Given the description of an element on the screen output the (x, y) to click on. 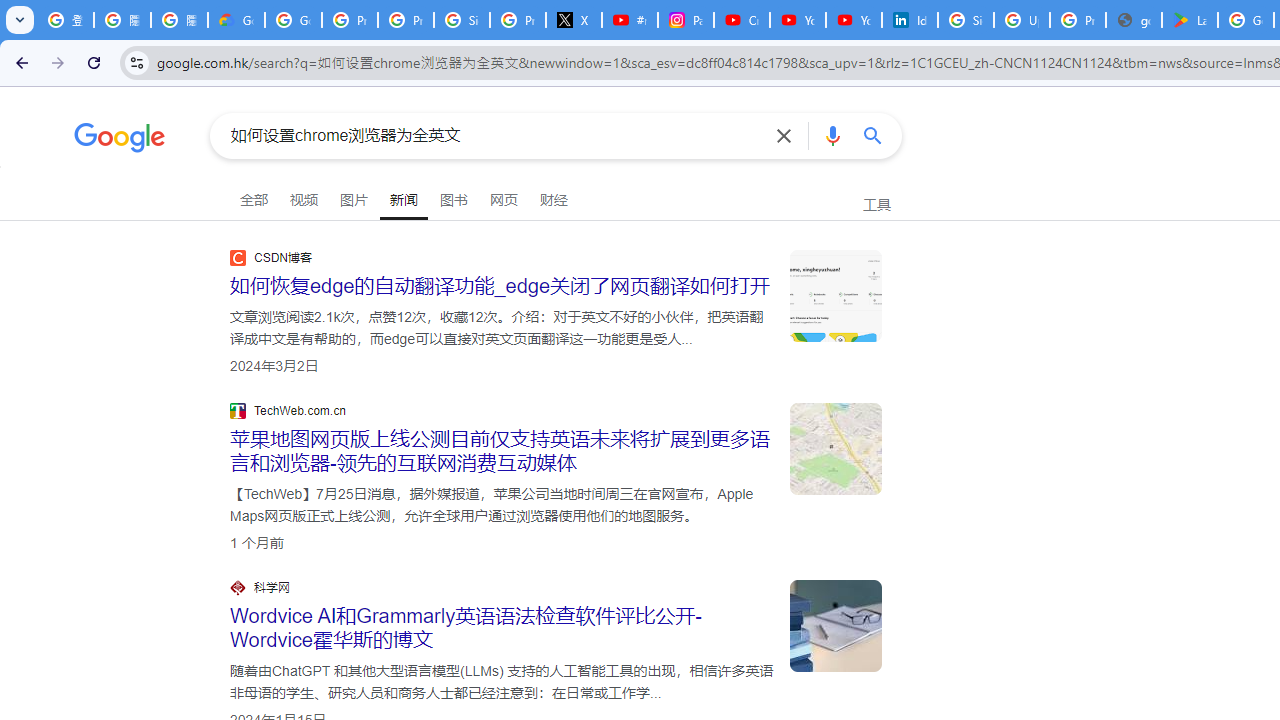
Privacy Help Center - Policies Help (405, 20)
